Given the description of an element on the screen output the (x, y) to click on. 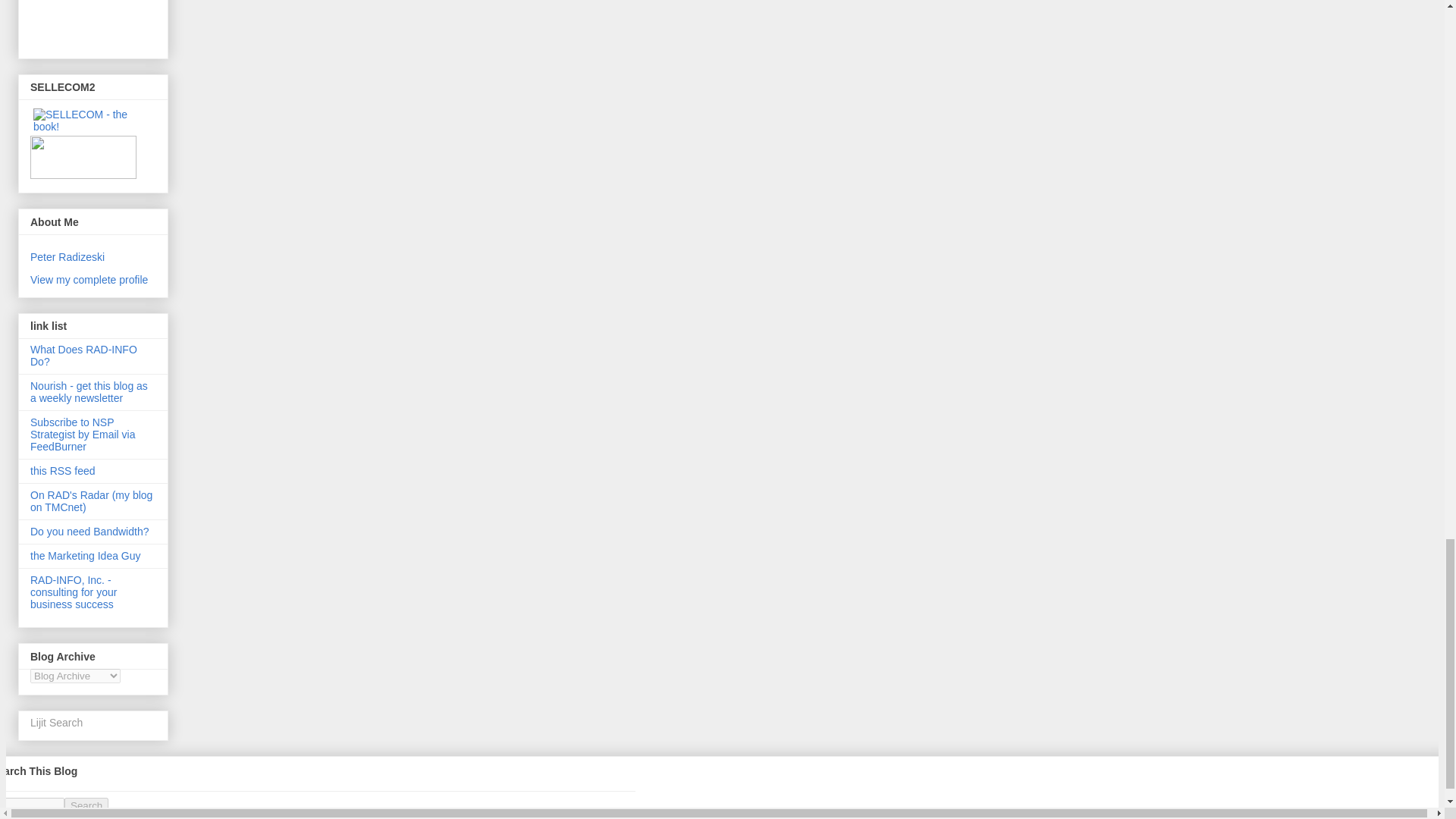
Search (85, 805)
RAD-INFO, Inc. - consulting for your business success (73, 592)
Do you need Bandwidth? (89, 531)
Advertisement (98, 22)
Search (85, 805)
View my complete profile (89, 279)
Nourish - get this blog as a weekly newsletter (89, 392)
this RSS feed (63, 470)
search (85, 805)
What Does RAD-INFO Do? (83, 355)
the Marketing Idea Guy (85, 555)
Peter Radizeski (67, 256)
search (32, 805)
Subscribe to NSP Strategist by Email via FeedBurner (82, 434)
